Given the description of an element on the screen output the (x, y) to click on. 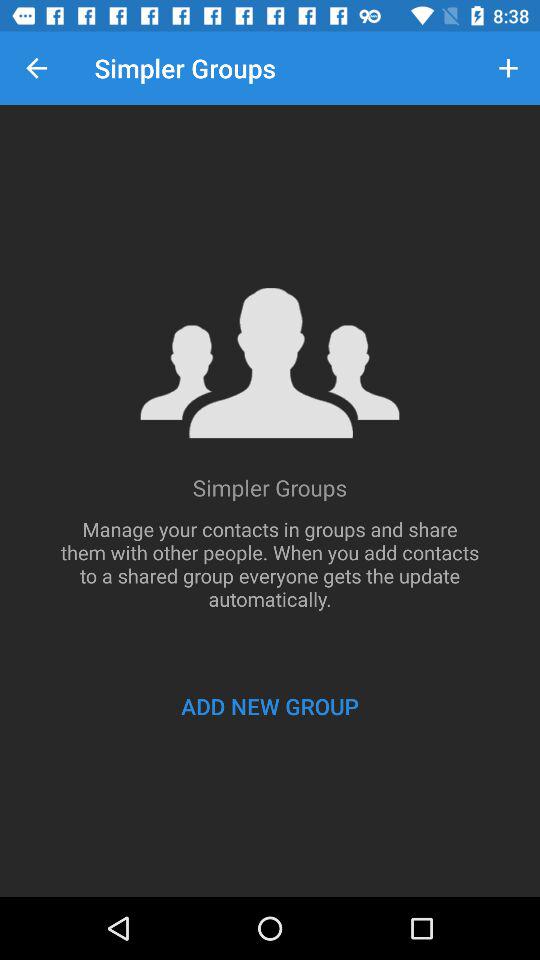
tap the icon above the manage your contacts icon (508, 67)
